Given the description of an element on the screen output the (x, y) to click on. 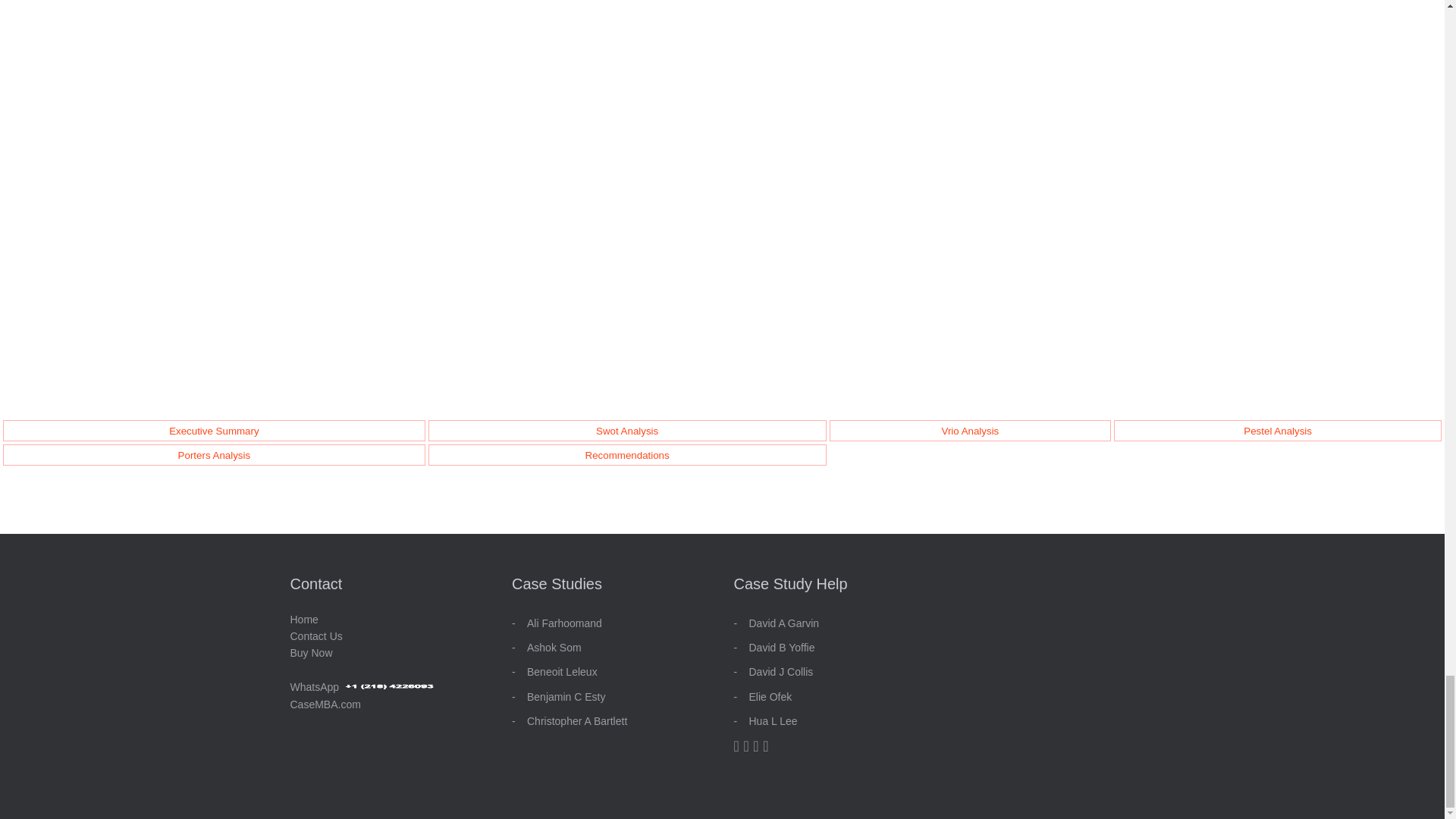
Benjamin C Esty (566, 696)
David A Garvin (784, 623)
Swot Analysis (626, 430)
Pestel Analysis (1277, 430)
Porters Analysis (213, 455)
Ali Farhoomand (564, 623)
David B Yoffie (782, 647)
Buy Now (310, 653)
Executive Summary (213, 430)
CaseMBA.com (324, 704)
